Given the description of an element on the screen output the (x, y) to click on. 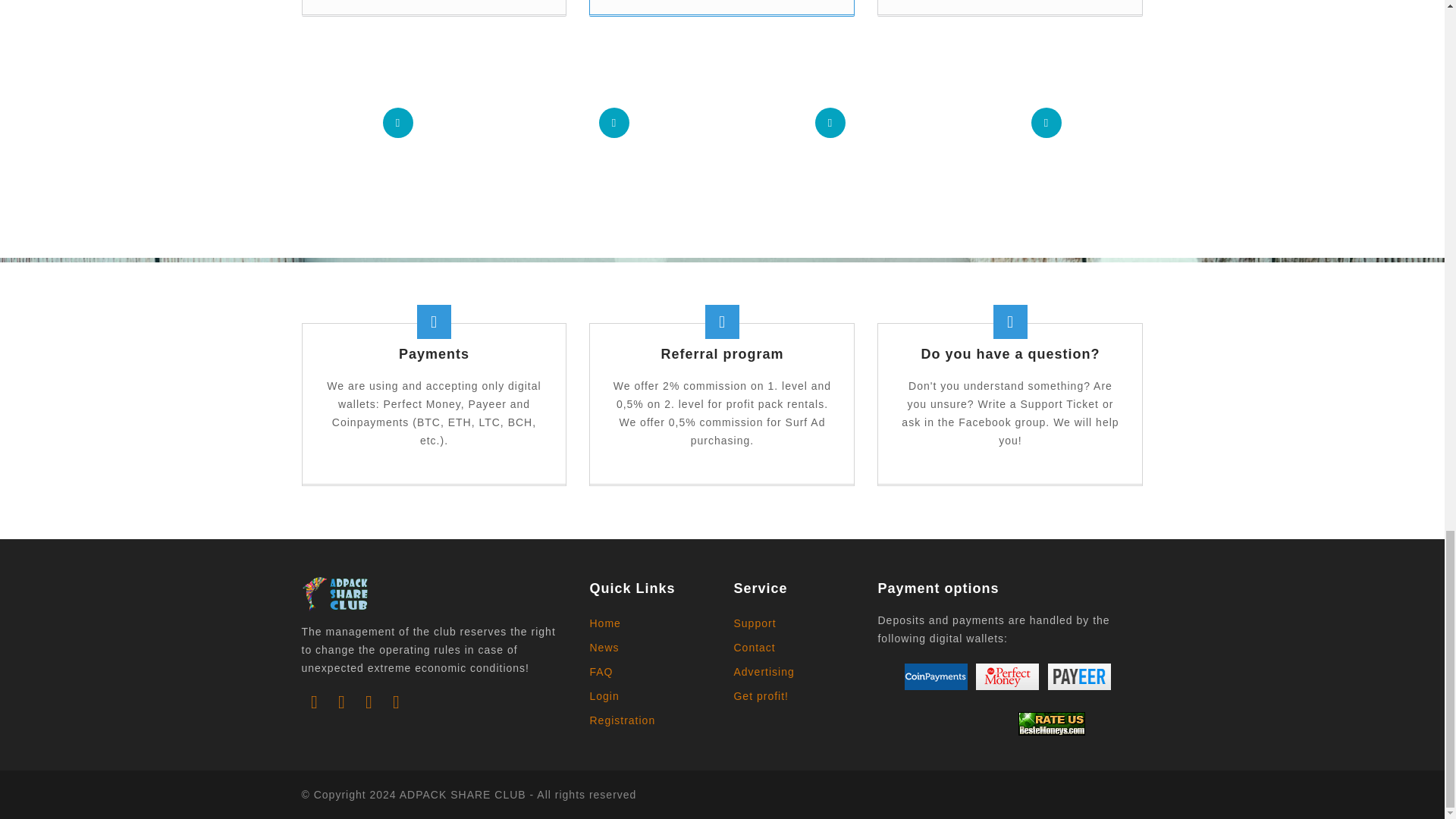
FAQ (600, 671)
Support (754, 623)
News (603, 647)
Registration (622, 720)
Contact (753, 647)
Advertising (763, 671)
Login (603, 695)
Home (604, 623)
Get profit! (760, 695)
